Given the description of an element on the screen output the (x, y) to click on. 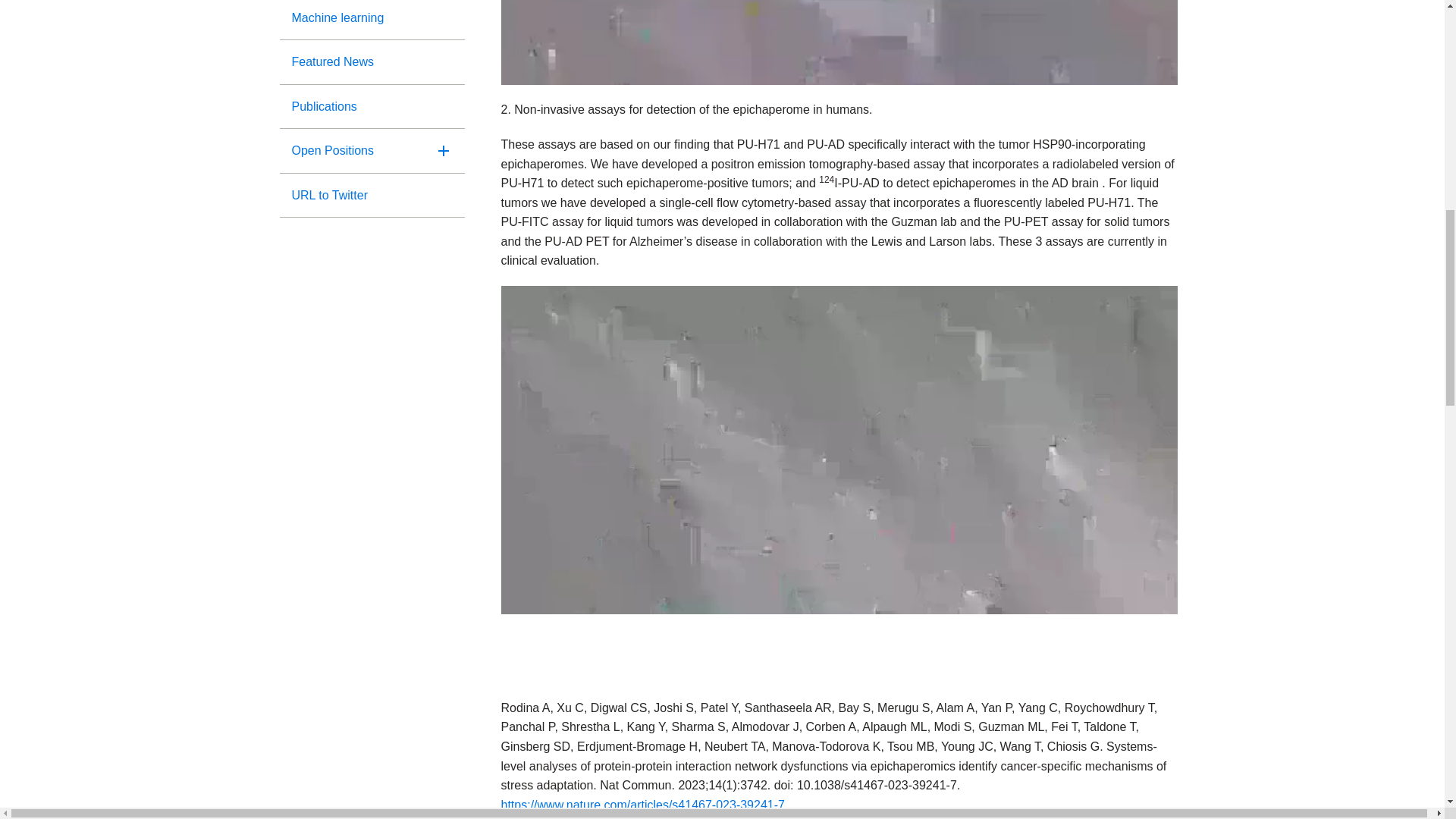
URL to Twitter (371, 195)
Featured News (371, 62)
Machine learning (371, 19)
Publications (371, 106)
